Given the description of an element on the screen output the (x, y) to click on. 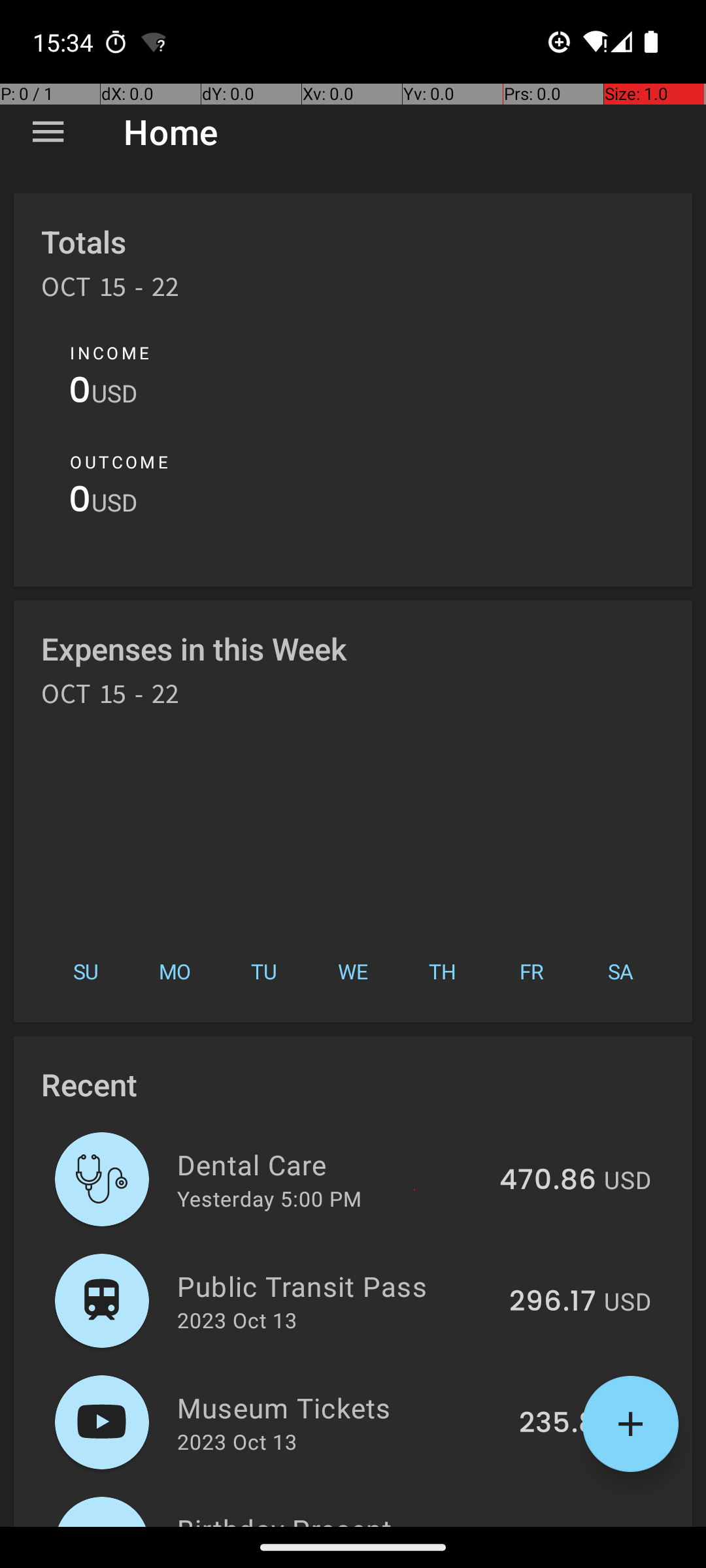
Yesterday 5:00 PM Element type: android.widget.TextView (269, 1198)
470.86 Element type: android.widget.TextView (547, 1180)
Public Transit Pass Element type: android.widget.TextView (335, 1285)
296.17 Element type: android.widget.TextView (552, 1301)
Museum Tickets Element type: android.widget.TextView (340, 1407)
235.8 Element type: android.widget.TextView (557, 1423)
Birthday Present Element type: android.widget.TextView (355, 1518)
51.1 Element type: android.widget.TextView (572, 1524)
